Given the description of an element on the screen output the (x, y) to click on. 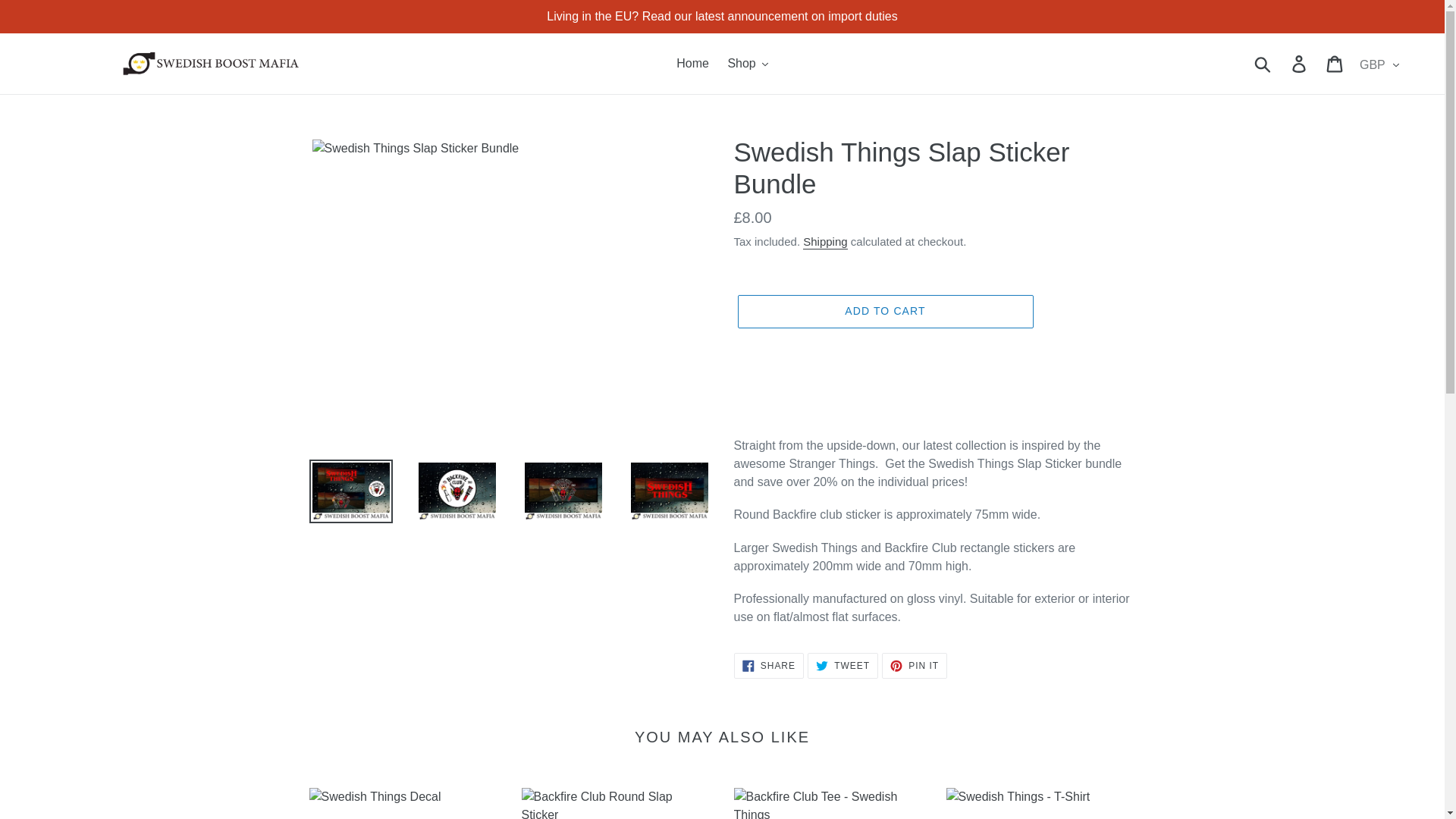
Submit (1263, 63)
Home (692, 63)
Cart (1335, 63)
Log in (1299, 63)
